Given the description of an element on the screen output the (x, y) to click on. 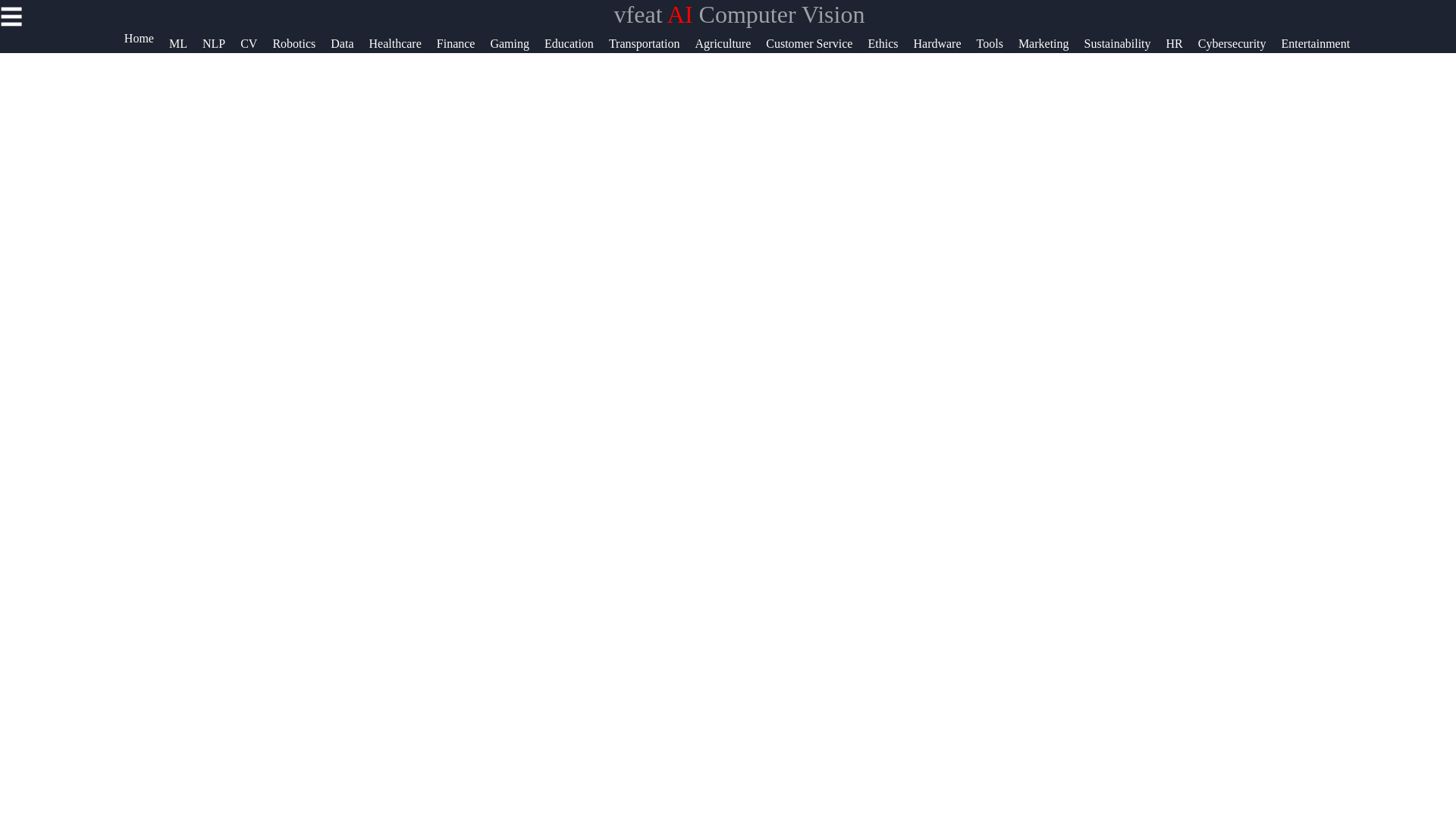
vfeat AI Computer Vision (739, 13)
